Given the description of an element on the screen output the (x, y) to click on. 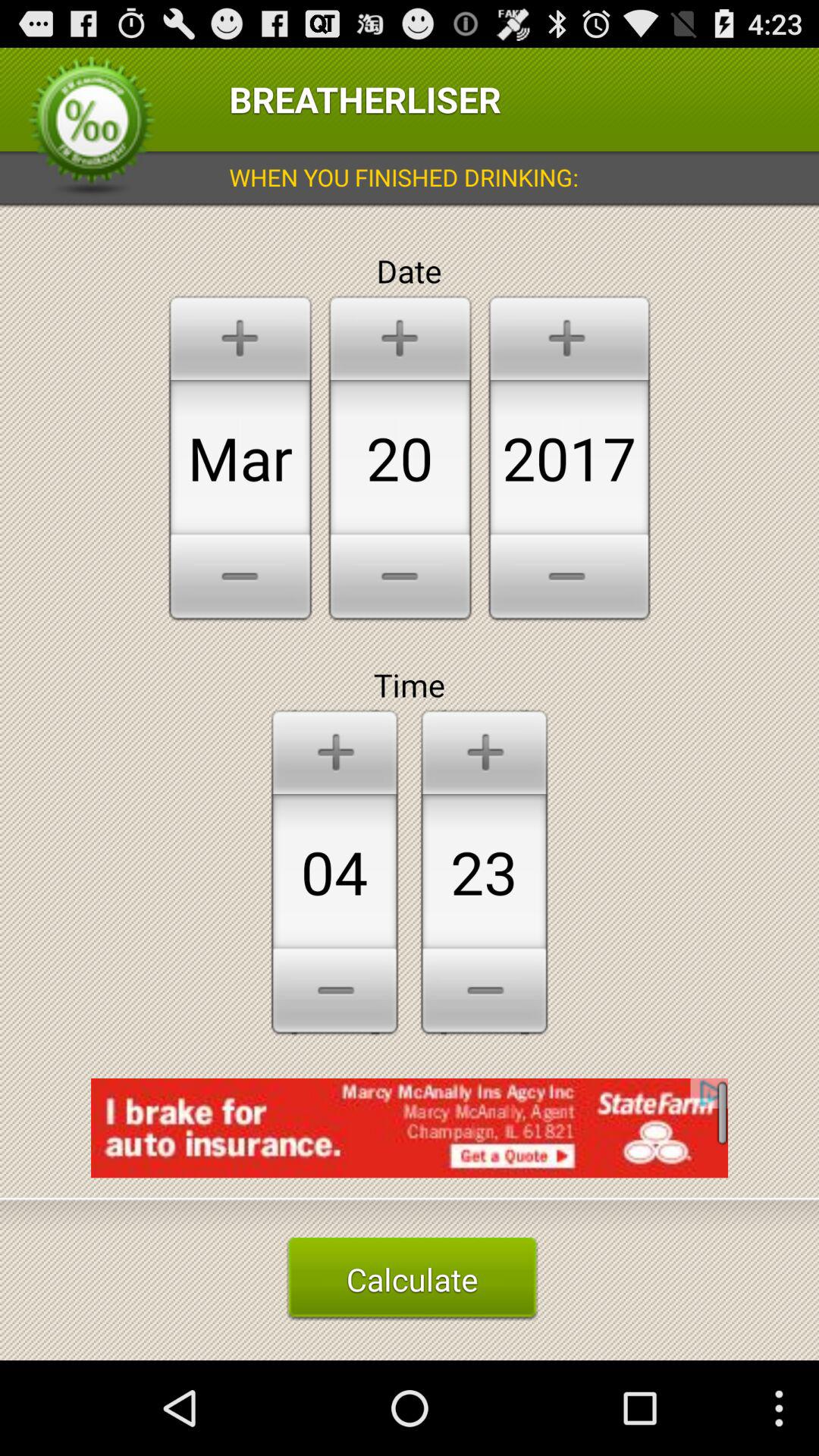
click below 23 (484, 993)
click first box in time (334, 871)
click on the number right side of 20 (569, 457)
click on plus icon on top of mar text (239, 336)
click on the option which is above 20 (399, 336)
improper tagging (409, 1138)
